Given the description of an element on the screen output the (x, y) to click on. 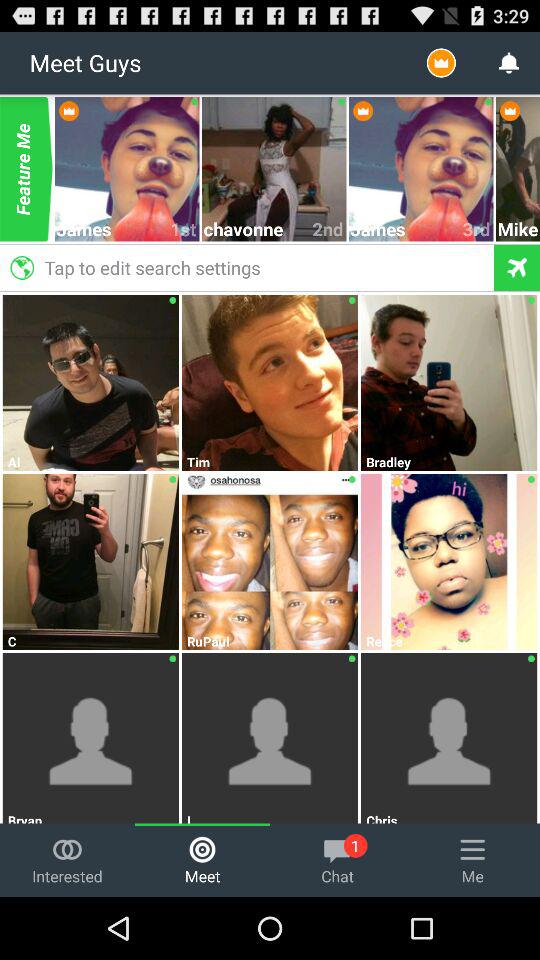
swipe until the tap to edit icon (246, 267)
